Given the description of an element on the screen output the (x, y) to click on. 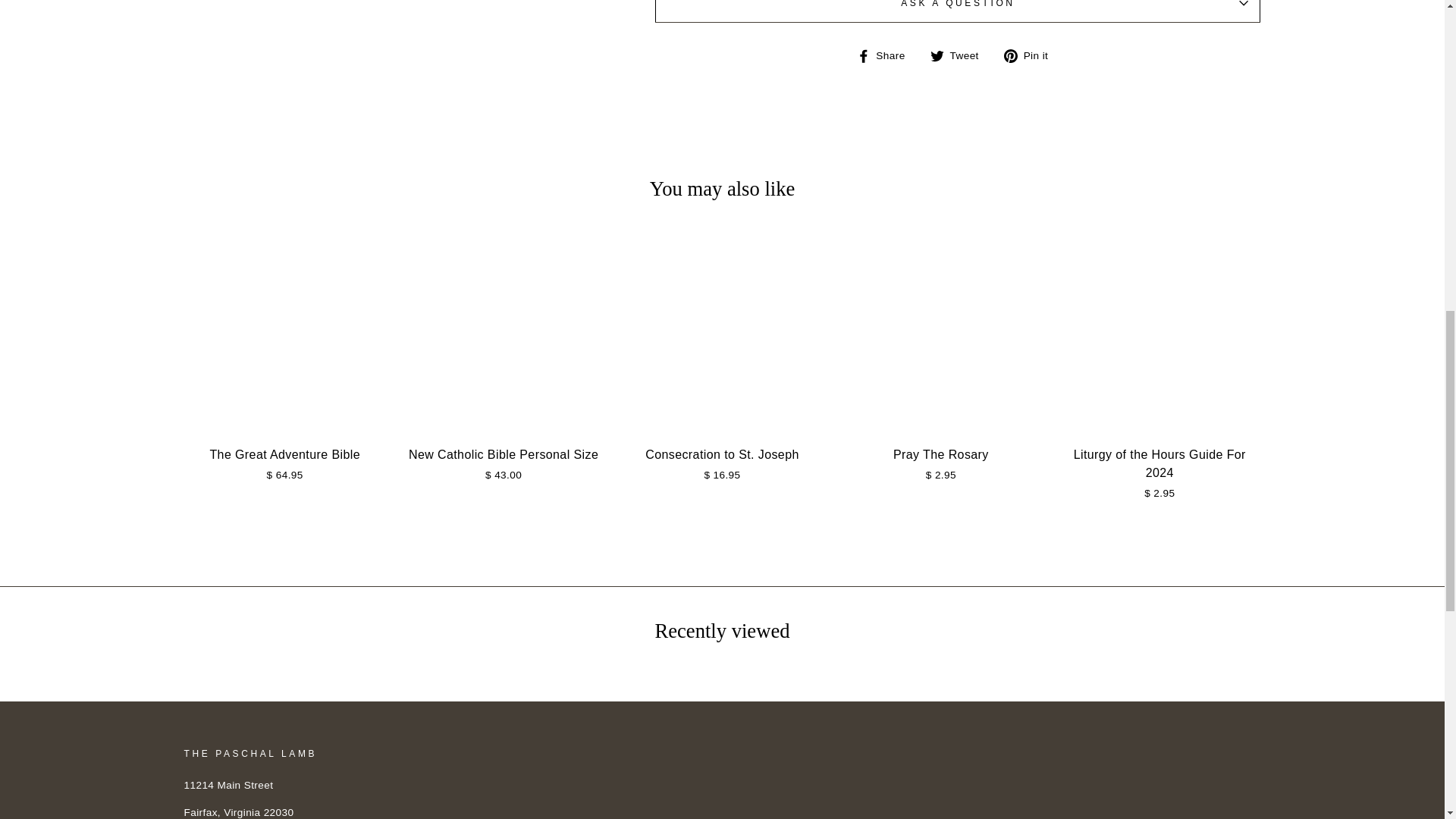
ASK A QUESTION (957, 11)
Pin on Pinterest (1031, 55)
Share on Facebook (887, 55)
Tweet on Twitter (960, 55)
